Given the description of an element on the screen output the (x, y) to click on. 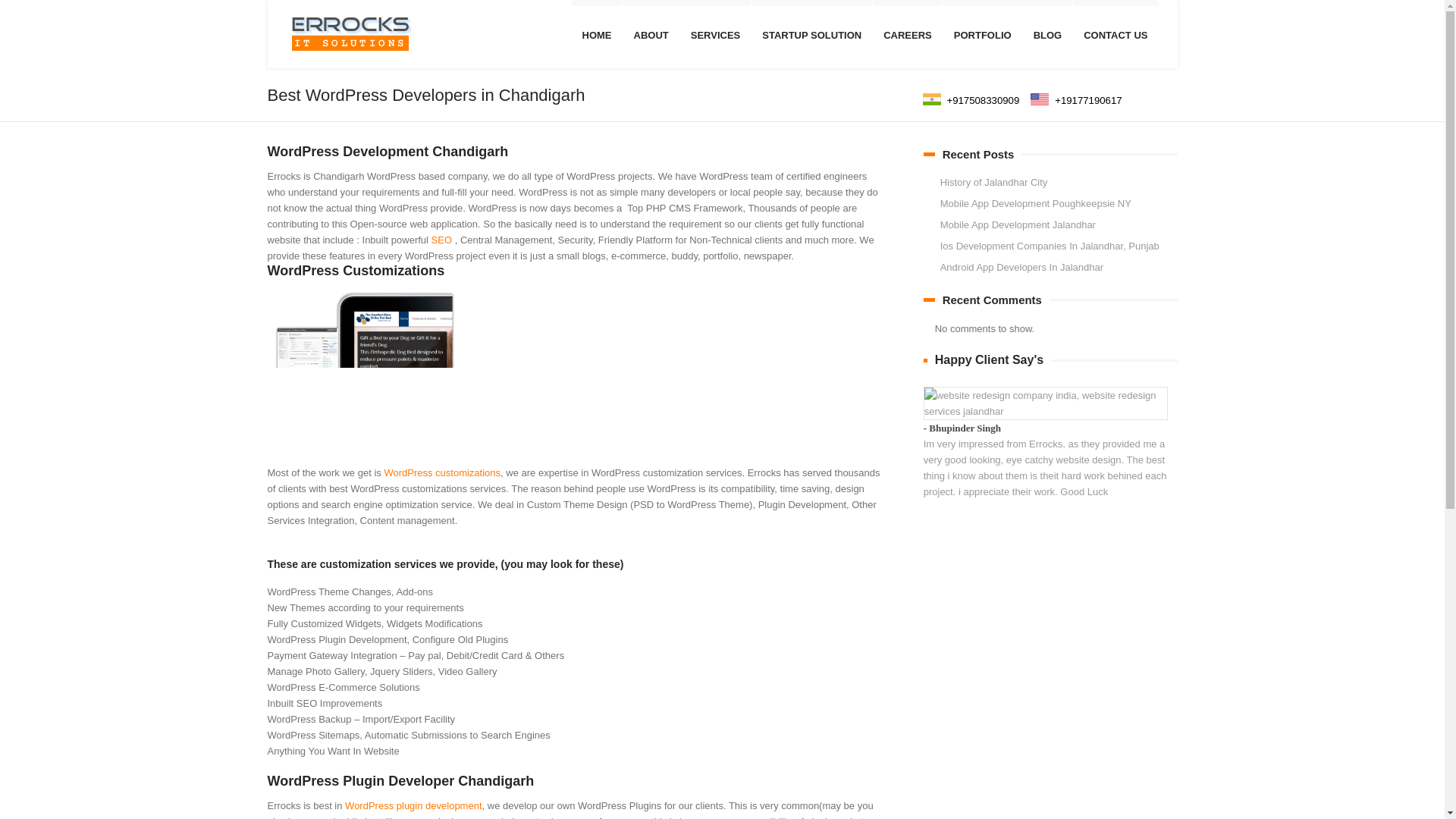
PORTFOLIO (982, 35)
SEO (442, 239)
WordPress plugin development (413, 805)
Mobile App Development Jalandhar (1018, 224)
Android App Developers In Jalandhar (1021, 266)
Ios Development Companies In Jalandhar, Punjab (1049, 245)
SERVICES (715, 35)
STARTUP SOLUTION (811, 35)
CONTACT US (1115, 35)
WordPress customizations (442, 472)
